Given the description of an element on the screen output the (x, y) to click on. 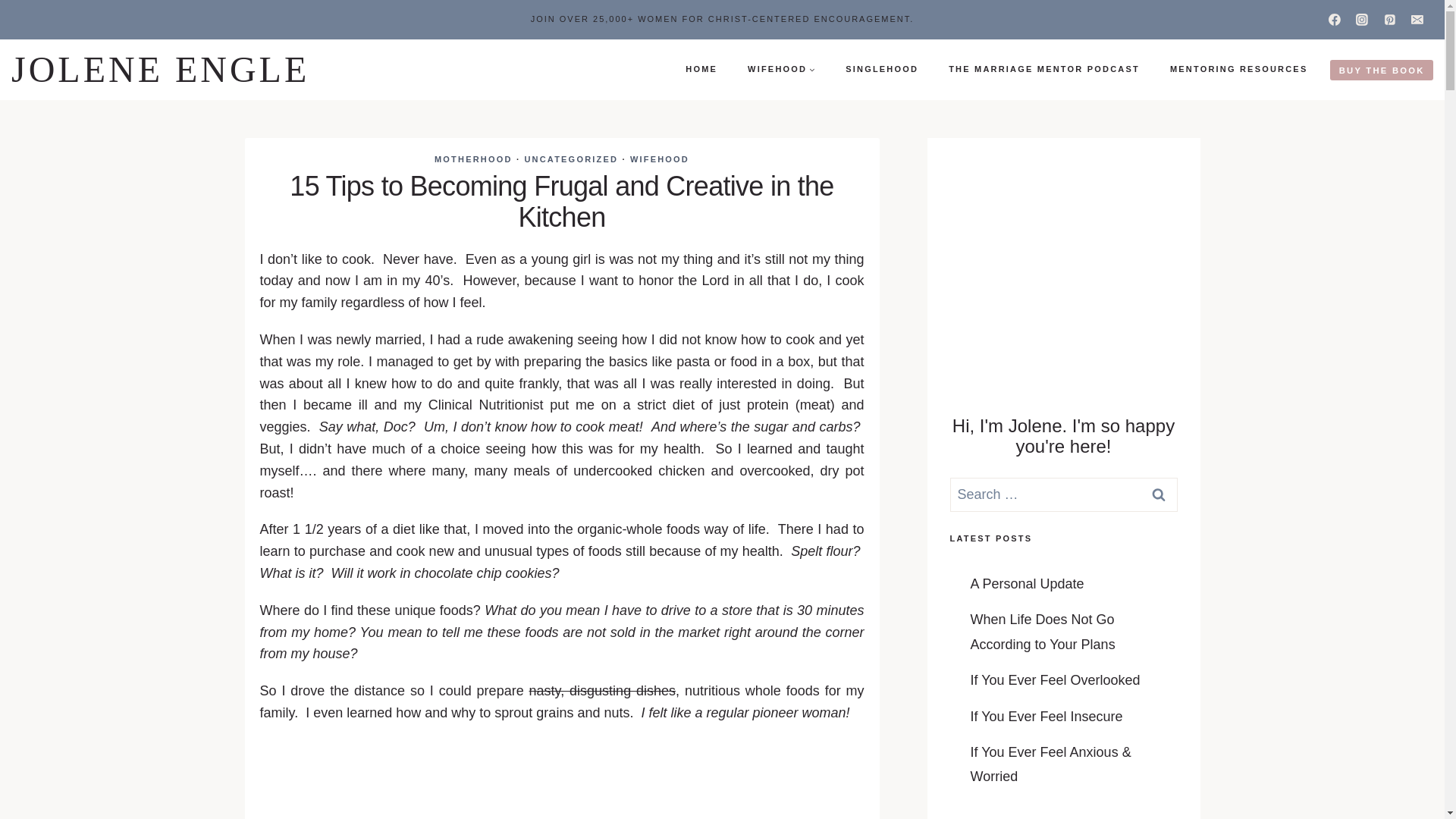
HOME (700, 69)
BUY THE BOOK (1381, 69)
UNCATEGORIZED (570, 158)
SINGLEHOOD (881, 69)
THE MARRIAGE MENTOR PODCAST (1043, 69)
JOLENE ENGLE (159, 69)
Search (1157, 494)
MENTORING RESOURCES (1238, 69)
WIFEHOOD (659, 158)
Search (1157, 494)
